Given the description of an element on the screen output the (x, y) to click on. 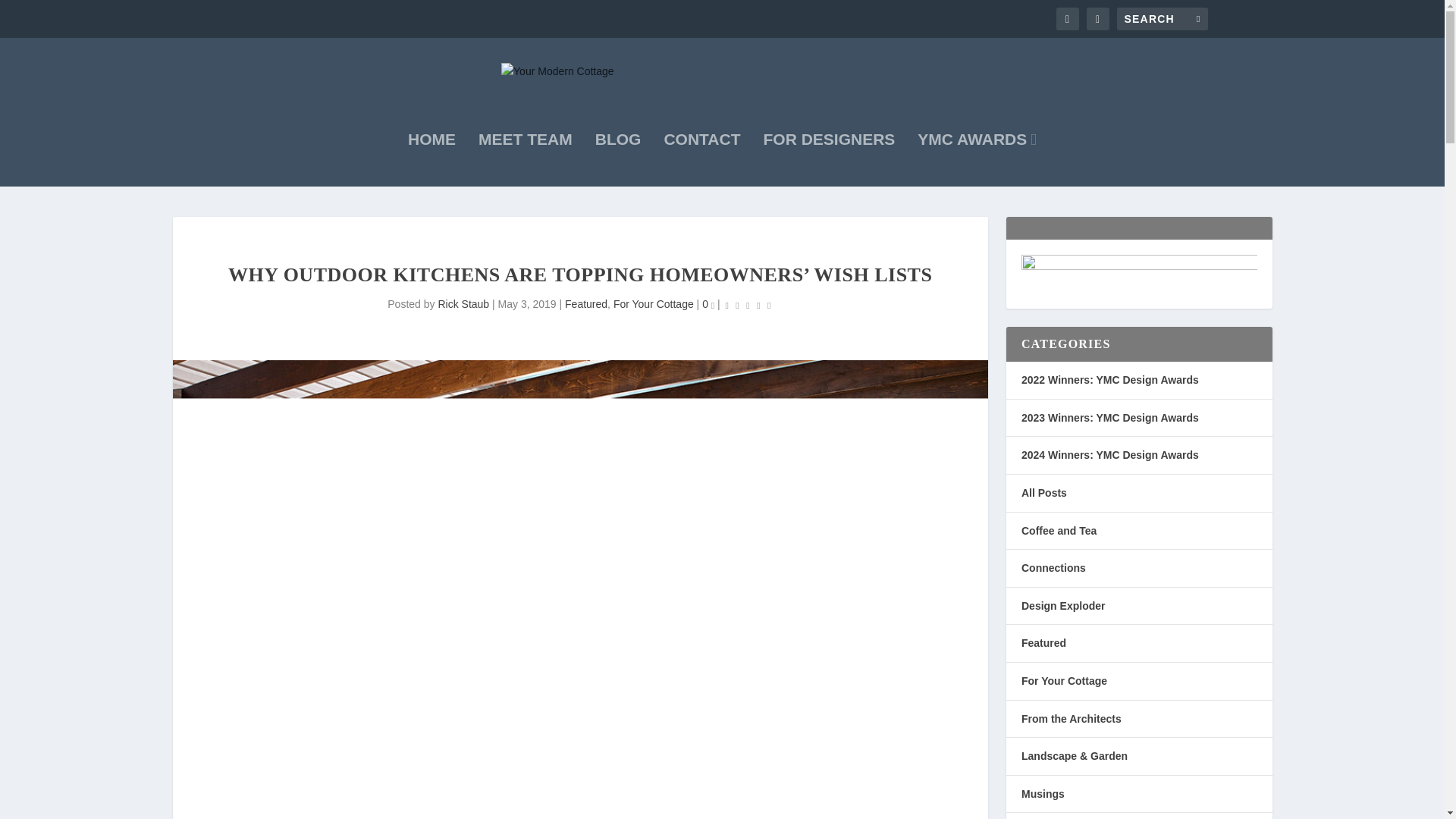
MEET TEAM (525, 159)
Search for: (1161, 18)
FOR DESIGNERS (828, 159)
Posts by Rick Staub (463, 304)
0 (707, 304)
HOME (431, 159)
Featured (585, 304)
Rating: 4.50 (748, 304)
CONTACT (701, 159)
YMC AWARDS (976, 159)
